Given the description of an element on the screen output the (x, y) to click on. 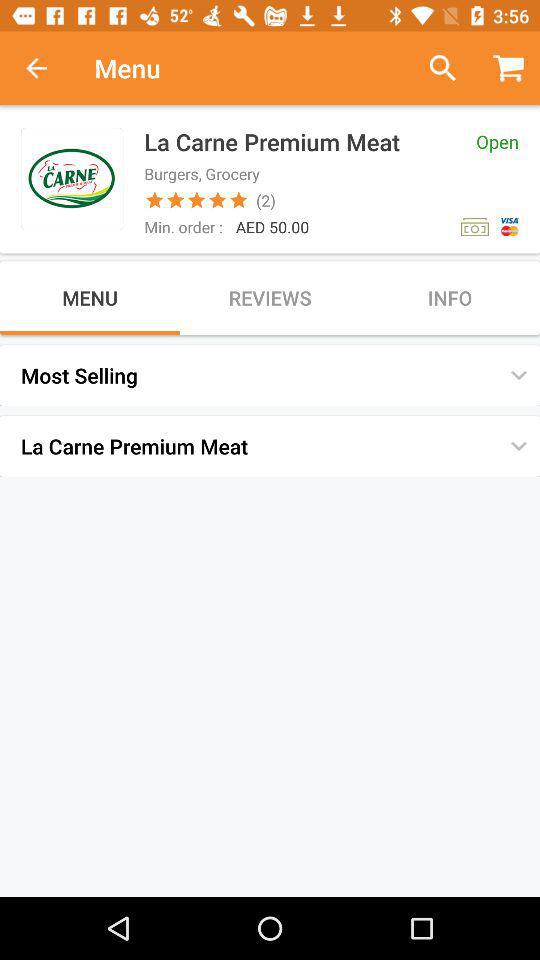
select the visa card (509, 226)
click on icon left to visa icon on right side (474, 226)
click on image below left arrow at top left (71, 178)
